Given the description of an element on the screen output the (x, y) to click on. 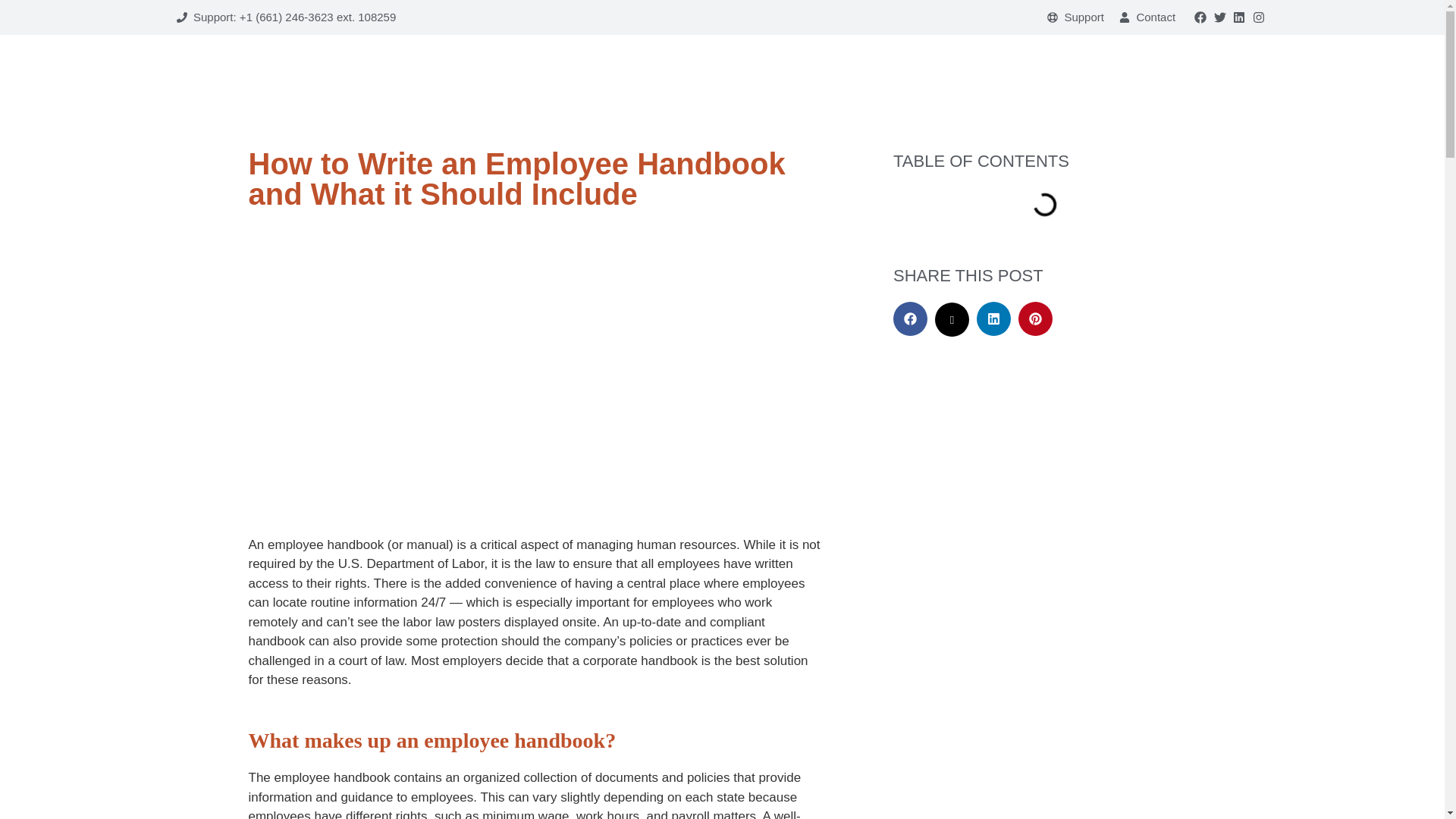
Support (1074, 17)
Contact (1146, 17)
